Given the description of an element on the screen output the (x, y) to click on. 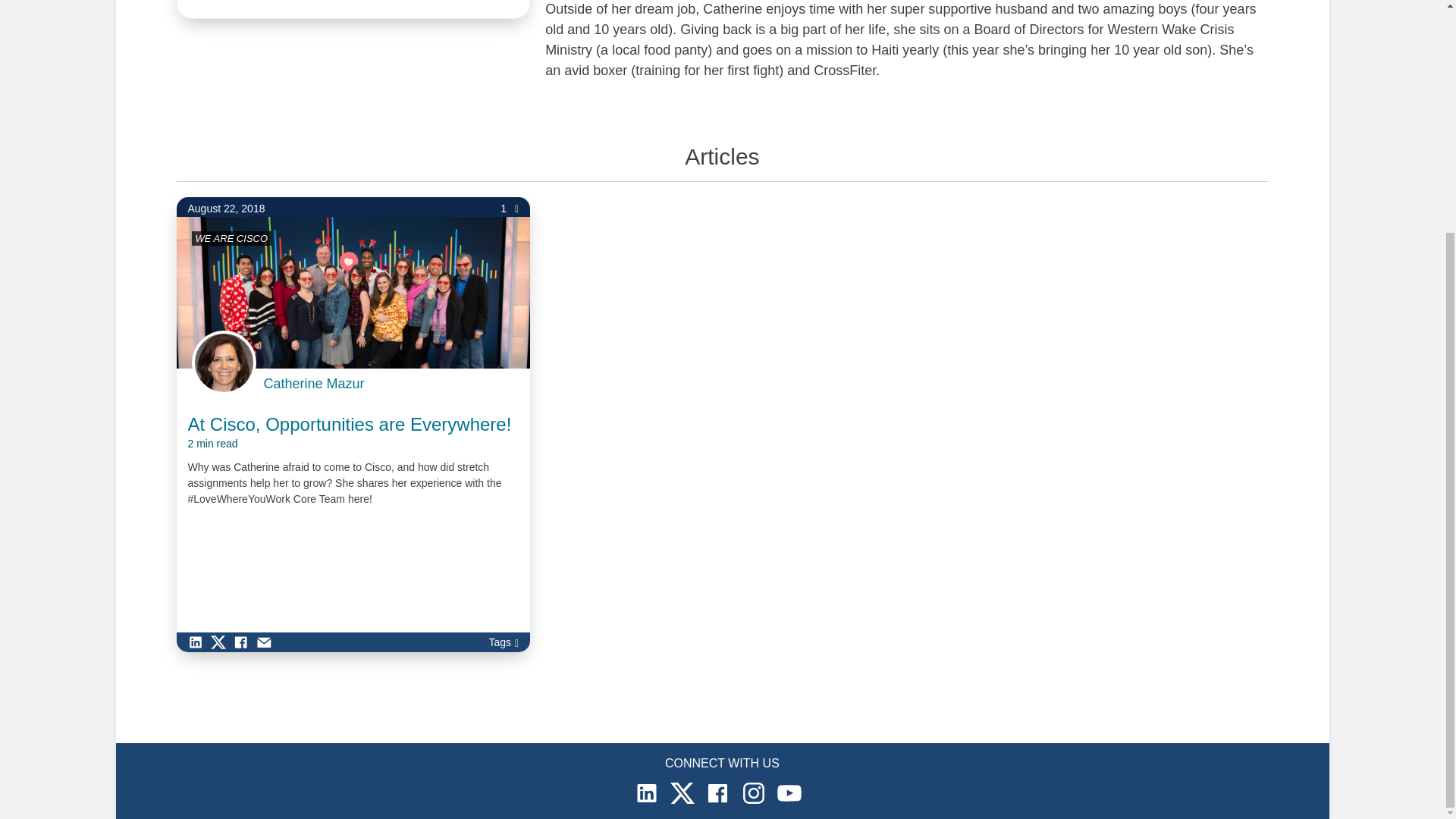
Catherine Mazur (314, 383)
At Cisco, Opportunities are Everywhere! (349, 432)
1 (509, 208)
WE ARE CISCO (231, 238)
Posts by Catherine Mazur (314, 383)
